Given the description of an element on the screen output the (x, y) to click on. 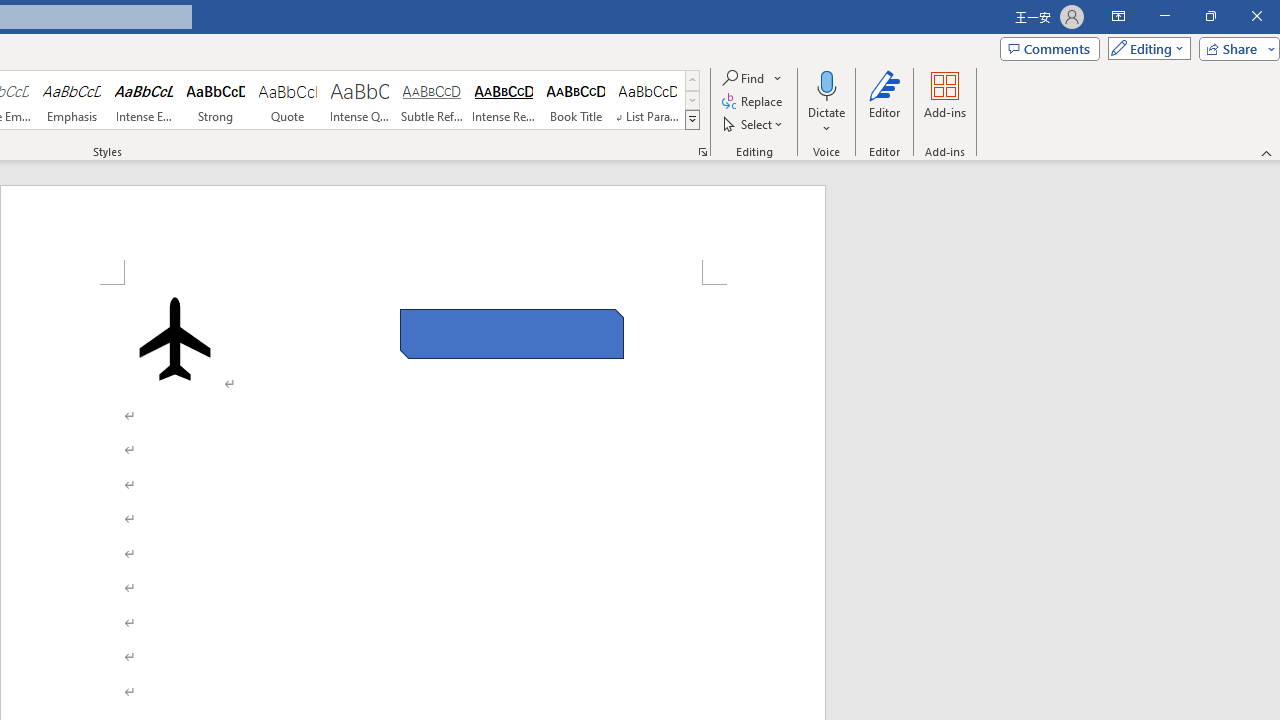
Row Down (692, 100)
Subtle Reference (431, 100)
More Options (826, 121)
Share (1235, 48)
Dictate (826, 84)
Intense Reference (504, 100)
Select (754, 124)
Dictate (826, 102)
Styles (692, 120)
Restore Down (1210, 16)
Intense Quote (359, 100)
Minimize (1164, 16)
Class: NetUIImage (692, 119)
